Given the description of an element on the screen output the (x, y) to click on. 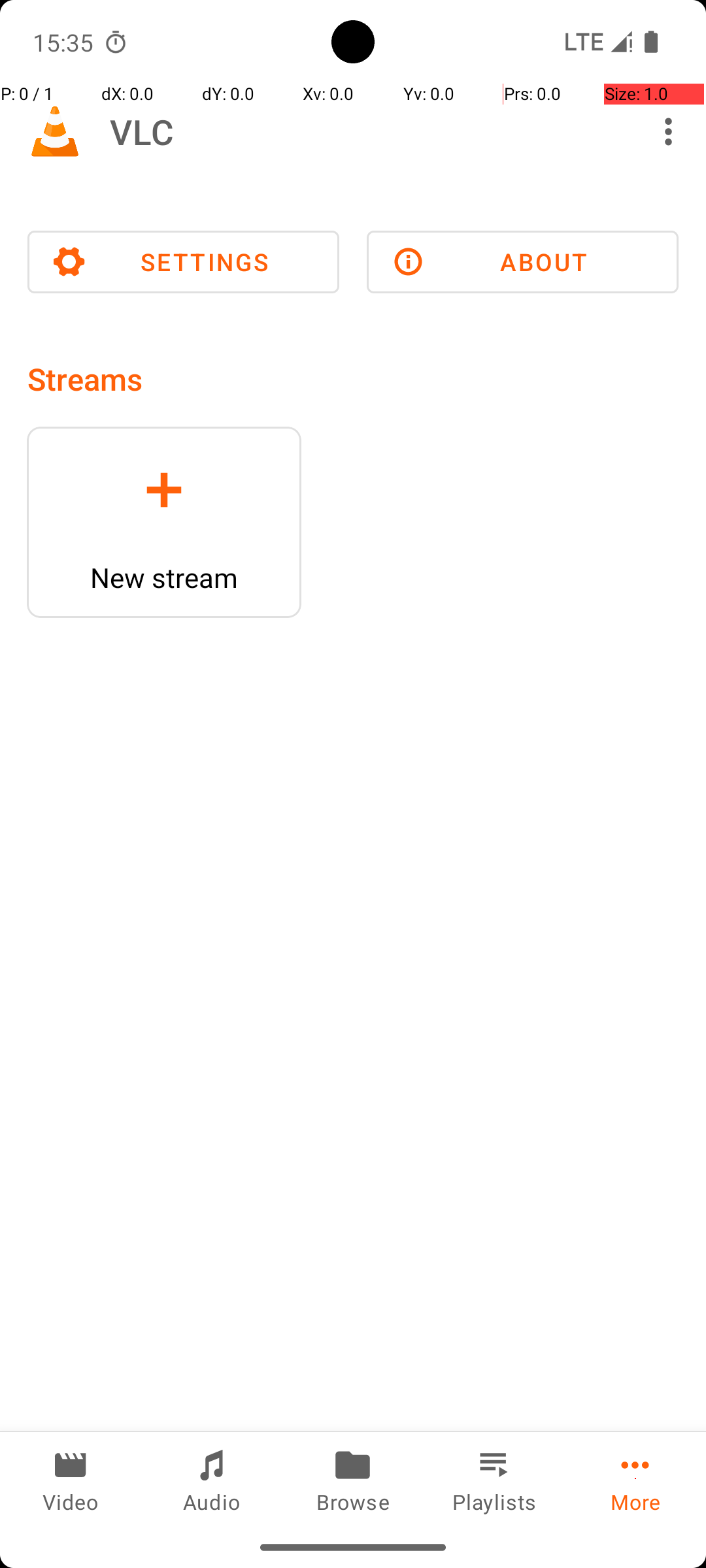
SETTINGS Element type: android.widget.Button (183, 261)
ABOUT Element type: android.widget.Button (522, 261)
Streams Element type: android.widget.TextView (84, 378)
New stream Element type: android.widget.TextView (163, 576)
